Given the description of an element on the screen output the (x, y) to click on. 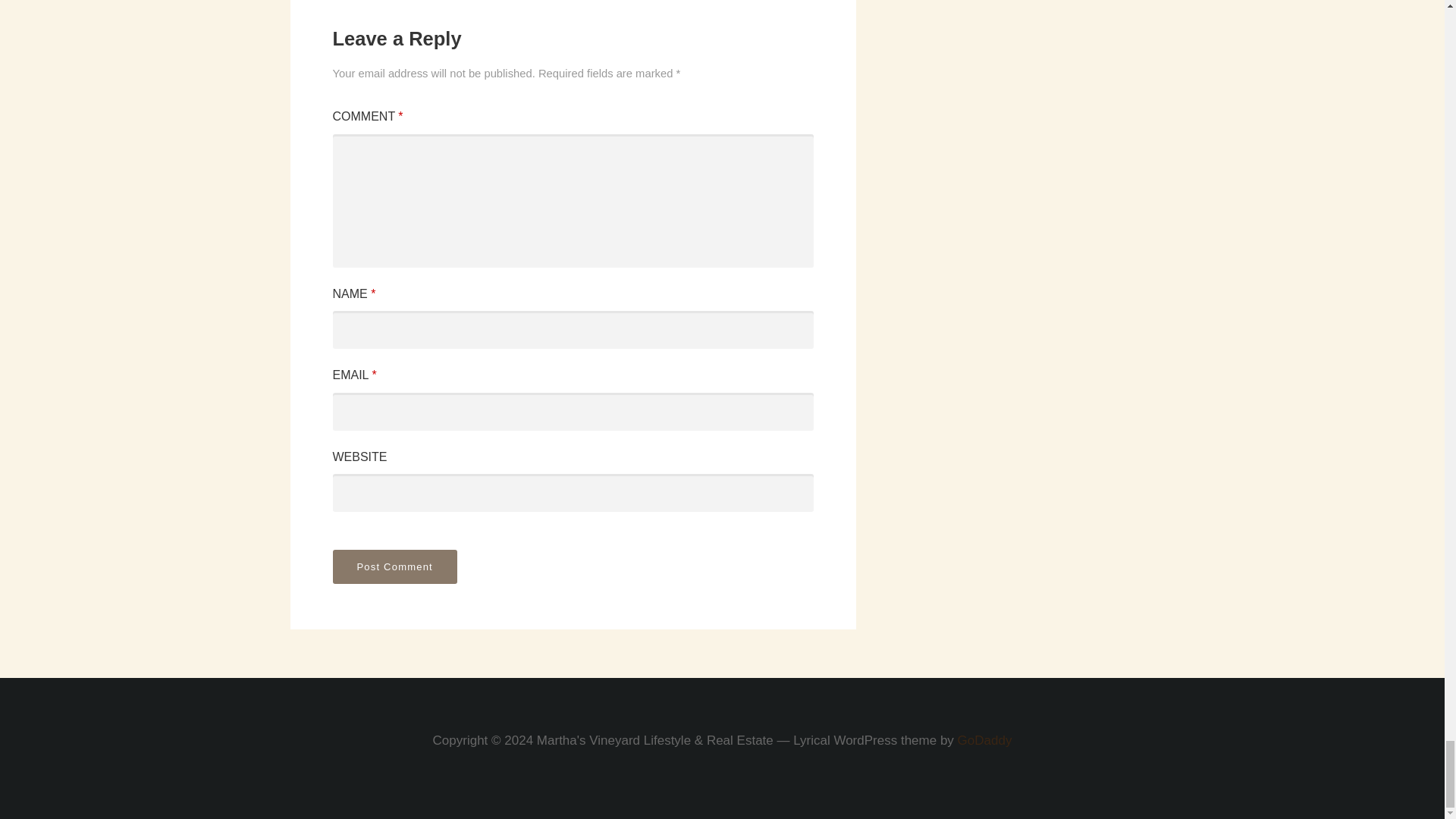
Post Comment (394, 566)
